Given the description of an element on the screen output the (x, y) to click on. 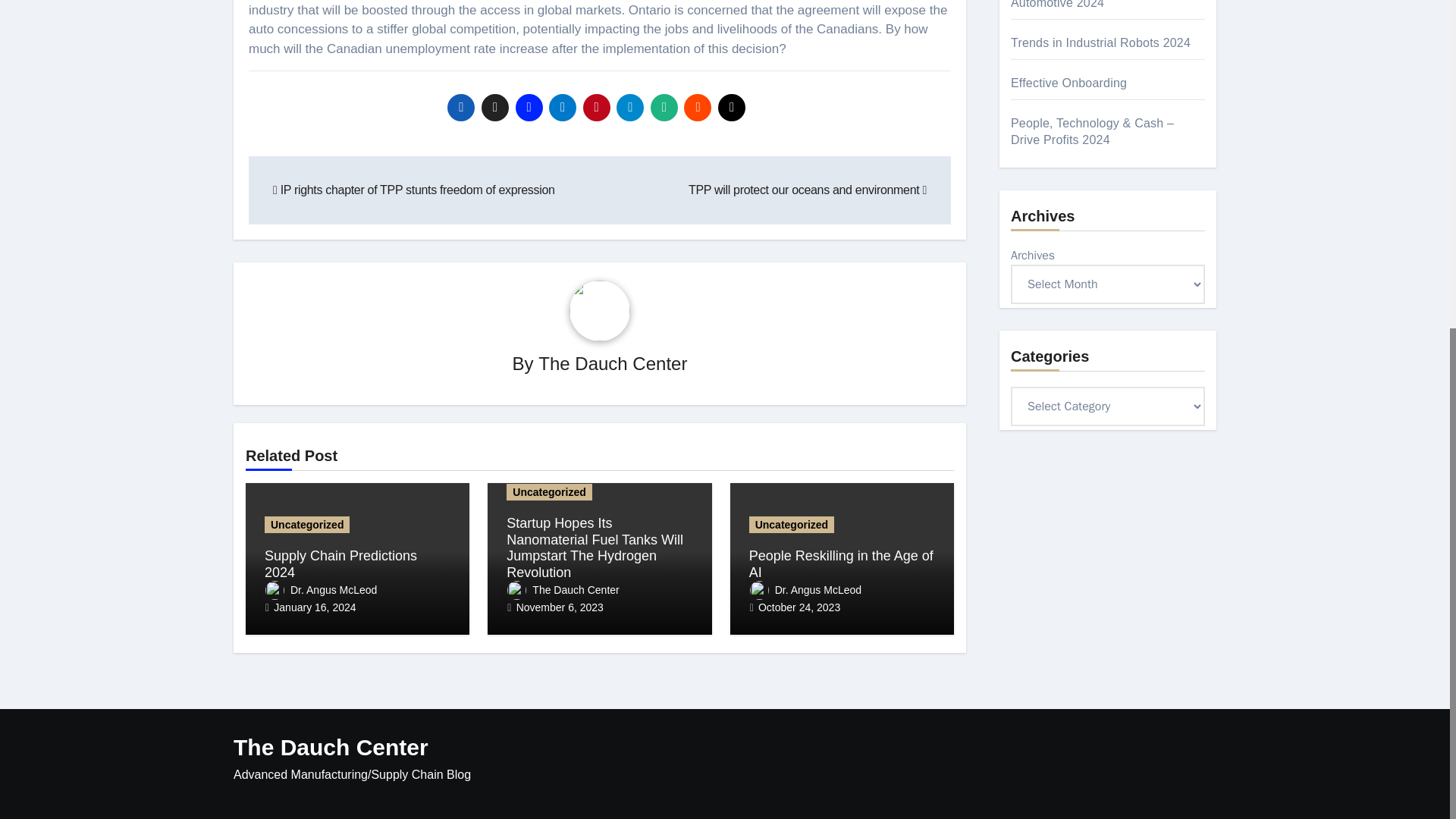
The Dauch Center (612, 362)
Permalink to: Supply Chain Predictions 2024 (340, 563)
Uncategorized (548, 492)
Permalink to: People Reskilling in the Age of AI (841, 563)
Dr. Angus McLeod (320, 589)
Supply Chain Predictions 2024 (340, 563)
IP rights chapter of TPP stunts freedom of expression (413, 189)
TPP will protect our oceans and environment (807, 189)
Uncategorized (306, 524)
January 16, 2024 (314, 607)
